Given the description of an element on the screen output the (x, y) to click on. 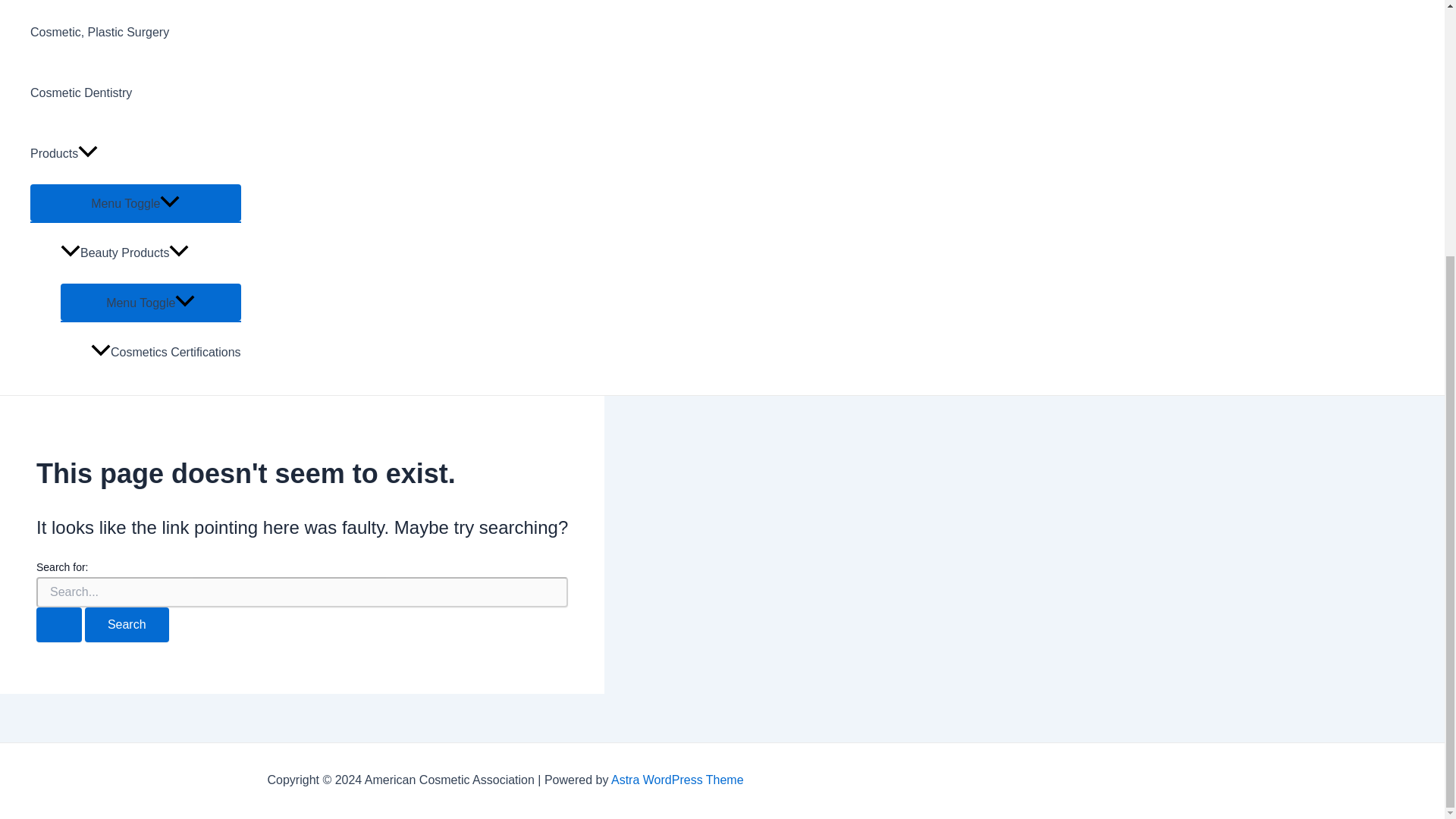
Cosmetic Dentistry (135, 93)
Beauty Products (151, 252)
Cosmetic Aesthetic Procedures (135, 1)
Menu Toggle (135, 202)
Search (126, 624)
Cosmetics Certifications (165, 352)
Menu Toggle (151, 302)
Products (135, 153)
Search (126, 624)
Cosmetic, Plastic Surgery (135, 32)
